Given the description of an element on the screen output the (x, y) to click on. 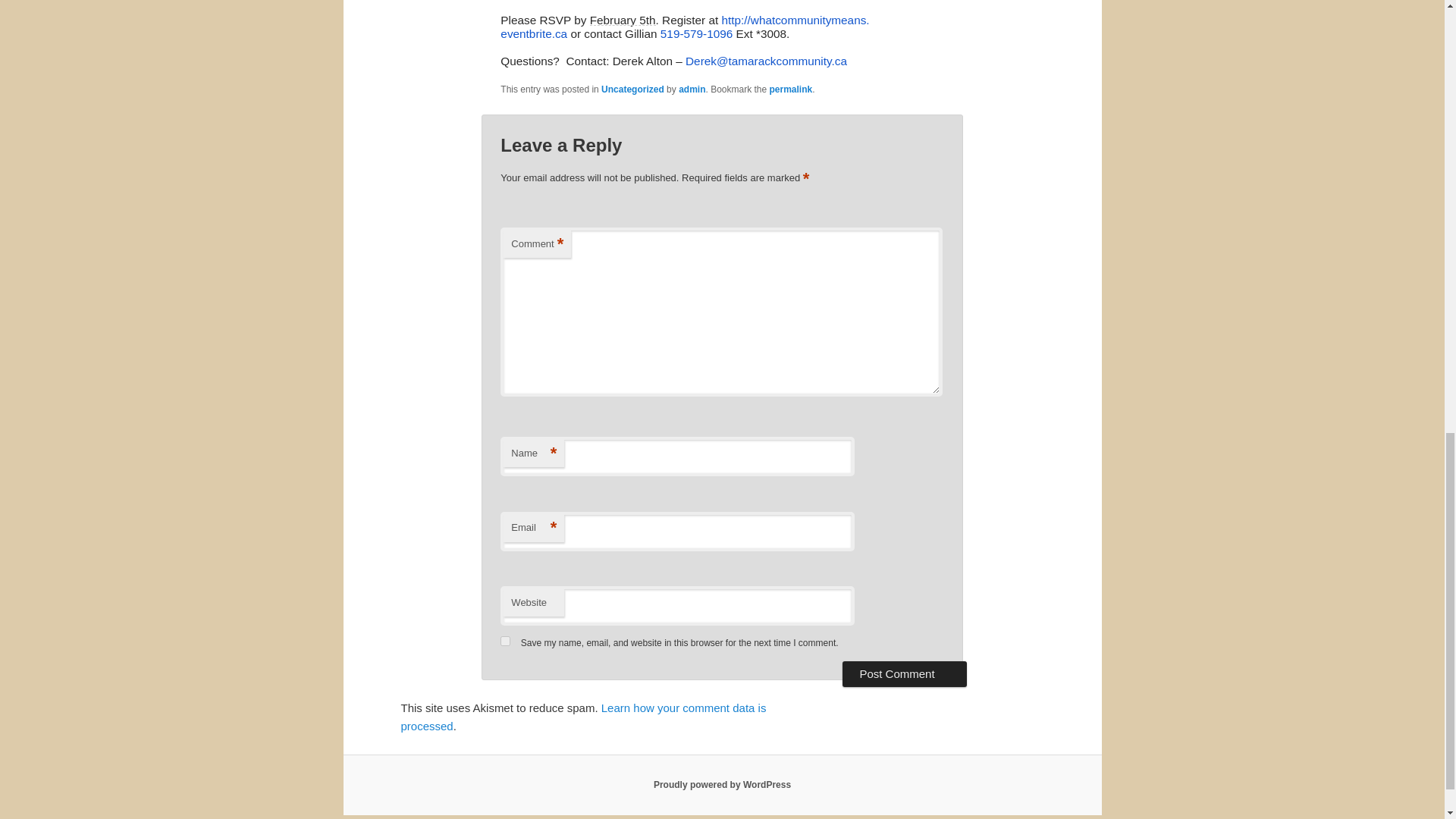
Semantic Personal Publishing Platform (721, 784)
yes (505, 641)
Learn how your comment data is processed (582, 716)
permalink (791, 89)
Post Comment (904, 673)
admin (691, 89)
Permalink to Engage in a conversation about our community (791, 89)
Post Comment (904, 673)
Uncategorized (632, 89)
519-579-1096 (696, 33)
